Given the description of an element on the screen output the (x, y) to click on. 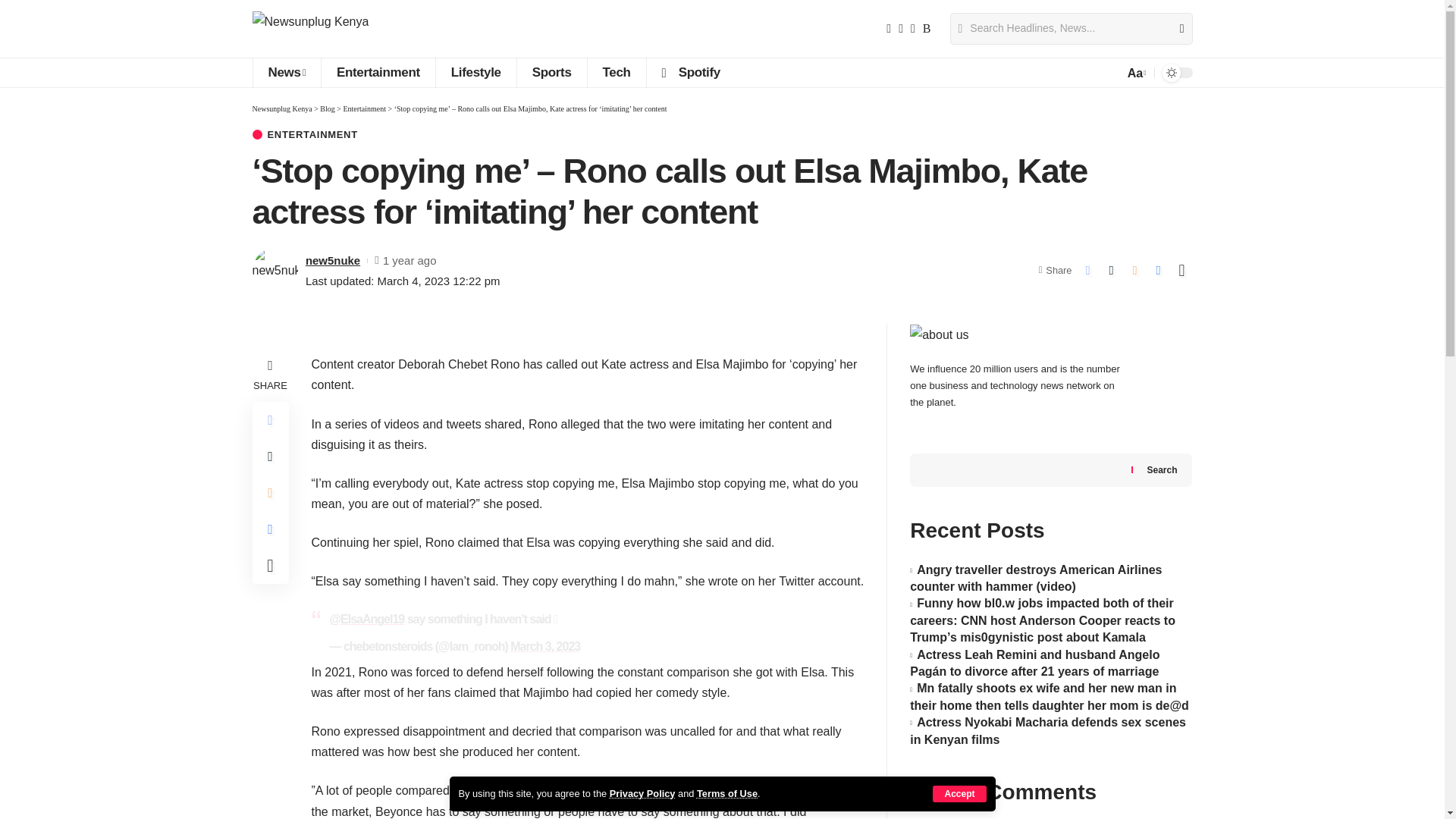
Go to Newsunplug Kenya. (281, 108)
Privacy Policy (642, 793)
News (285, 72)
Entertainment (377, 72)
Aa (1135, 73)
Spotify (690, 72)
Go to Blog. (327, 108)
Go to the Entertainment Category archives. (363, 108)
Newsunplug Kenya (309, 28)
Tech (616, 72)
